Given the description of an element on the screen output the (x, y) to click on. 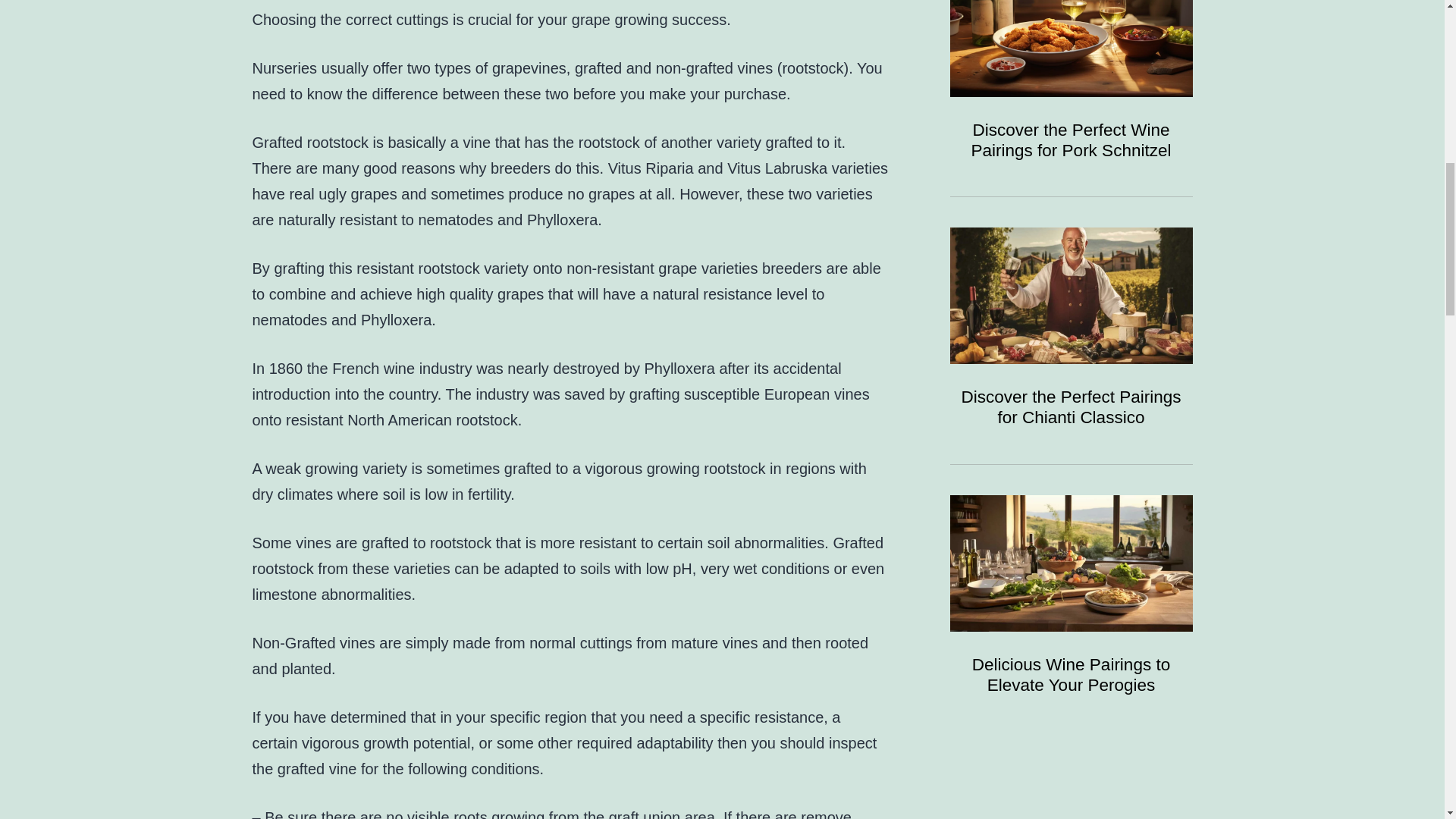
Discover The Perfect Wine Pairings For Pork Schnitzel 9 (1070, 48)
Delicious Wine Pairings To Elevate Your Perogies 11 (1070, 563)
Discover The Perfect Pairings For Chianti Classico 10 (1070, 295)
